Given the description of an element on the screen output the (x, y) to click on. 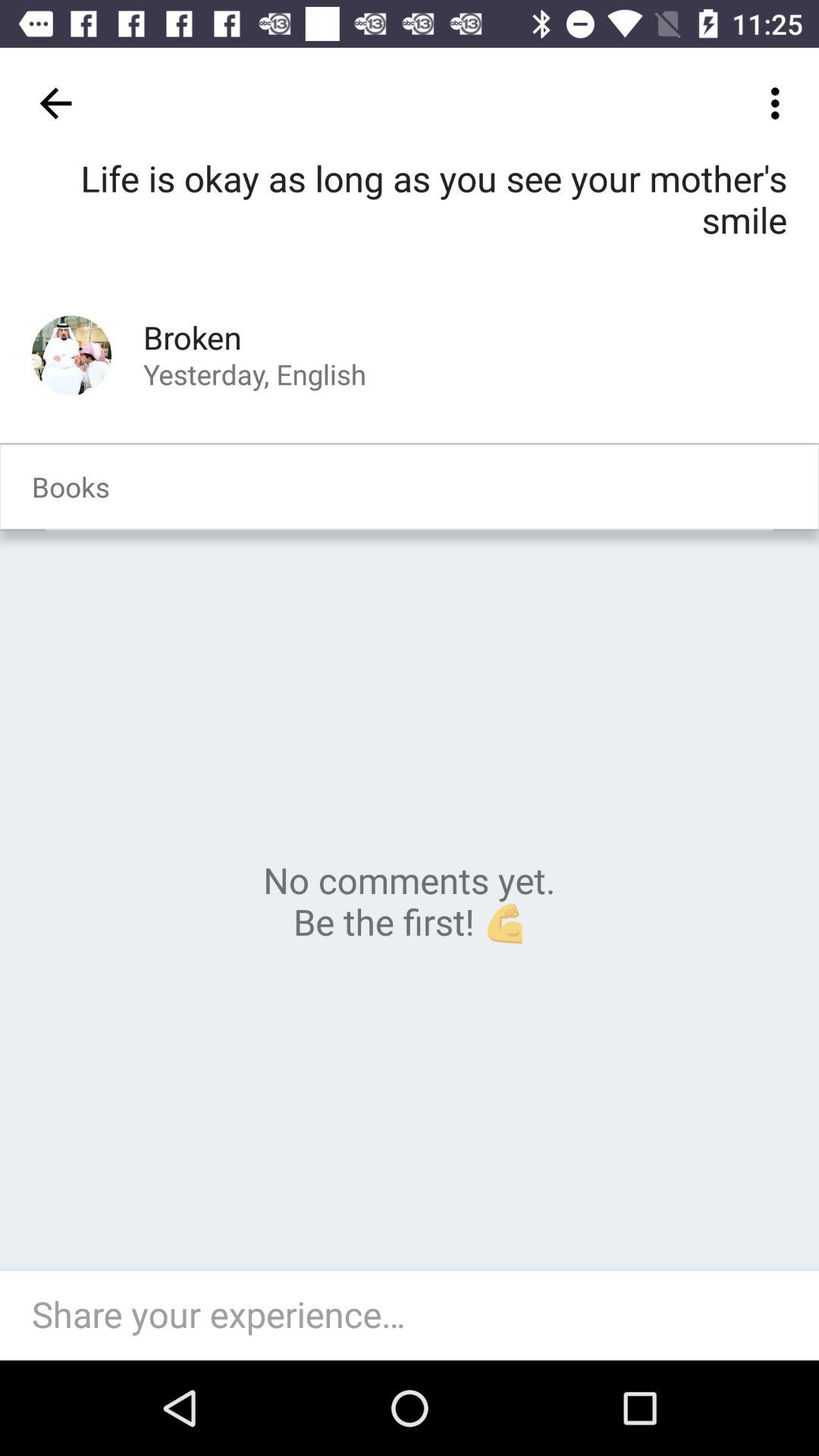
select the item next to the broken (71, 355)
